Given the description of an element on the screen output the (x, y) to click on. 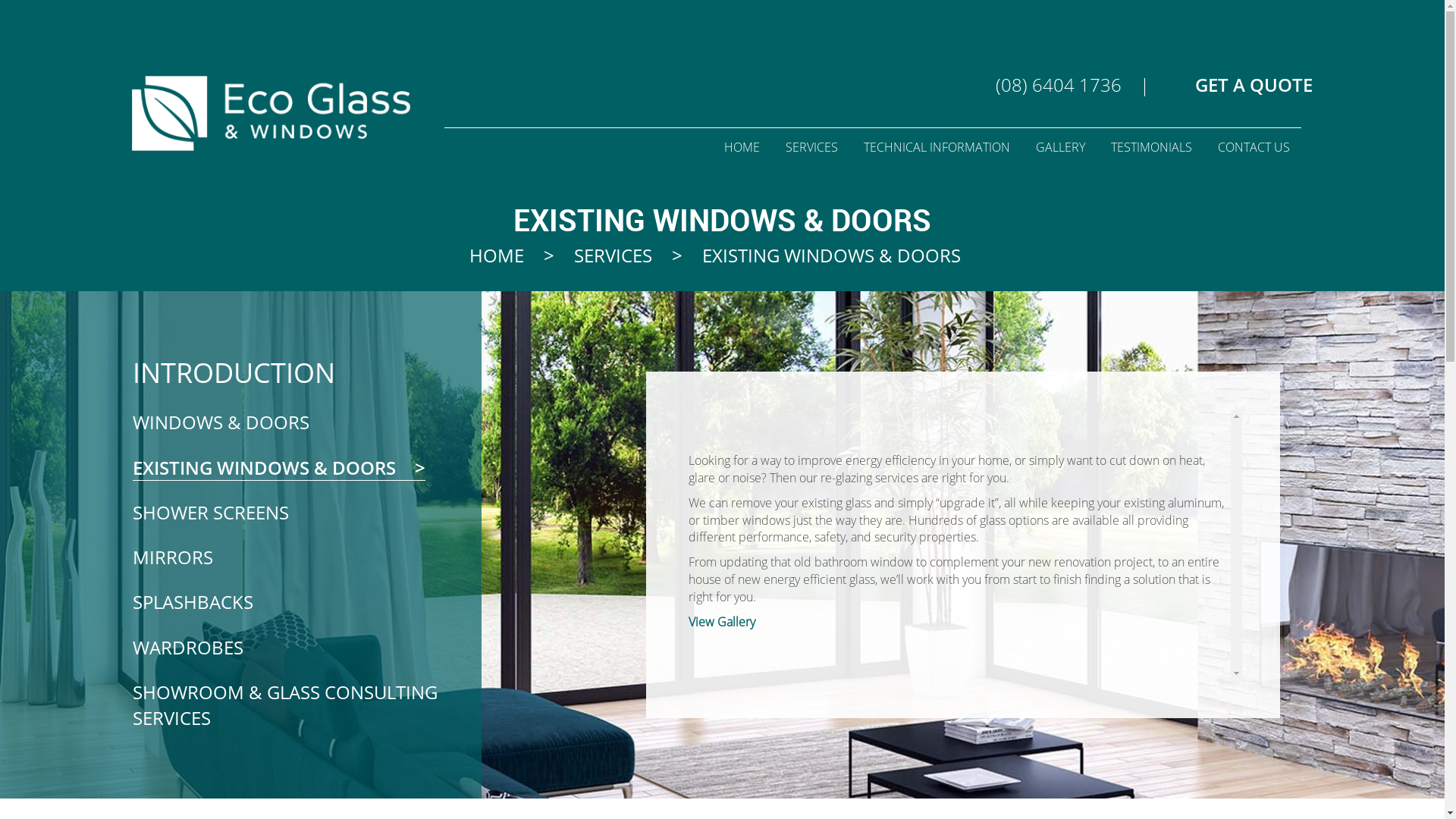
INTRODUCTION Element type: text (306, 372)
GET A QUOTE Element type: text (1238, 84)
MIRRORS Element type: text (187, 556)
SERVICES Element type: text (811, 147)
GALLERY Element type: text (1060, 147)
SHOWROOM & GLASS CONSULTING SERVICES Element type: text (284, 704)
Eco Glass & Windows Element type: hover (270, 112)
TESTIMONIALS Element type: text (1151, 147)
SERVICES Element type: text (612, 254)
WARDROBES Element type: text (202, 646)
WINDOWS & DOORS Element type: text (235, 421)
CONTACT US Element type: text (1253, 147)
HOME Element type: text (741, 147)
SPLASHBACKS Element type: text (207, 601)
SHOWER SCREENS Element type: text (225, 511)
EXISTING WINDOWS & DOORS Element type: text (278, 467)
HOME Element type: text (495, 254)
TECHNICAL INFORMATION Element type: text (936, 147)
(08) 6404 1736 Element type: text (1058, 84)
View Gallery Element type: text (721, 620)
